Given the description of an element on the screen output the (x, y) to click on. 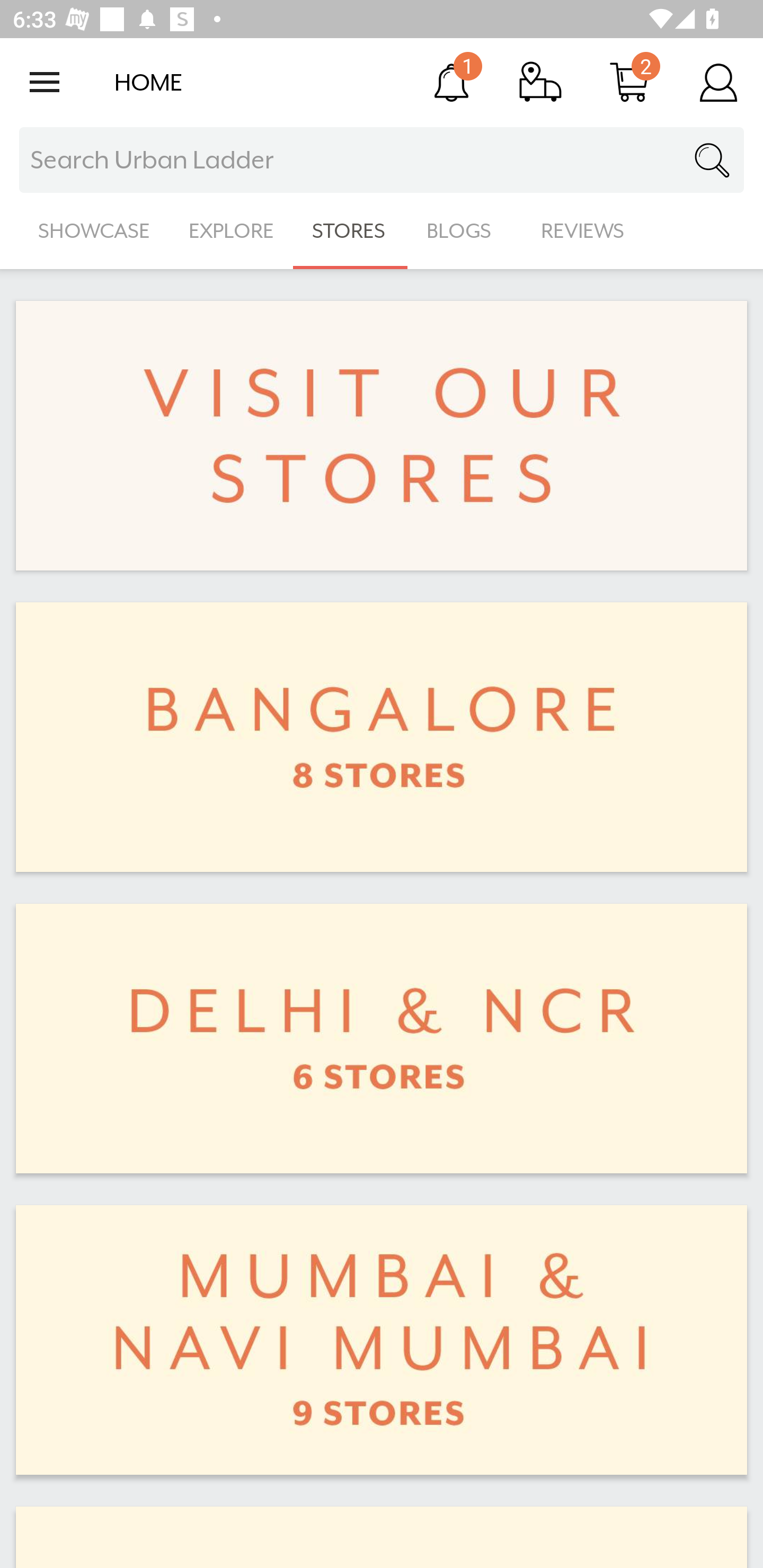
Open navigation drawer (44, 82)
Notification (450, 81)
Track Order (540, 81)
Cart (629, 81)
Account Details (718, 81)
Search Urban Ladder  (381, 159)
SHOWCASE (94, 230)
EXPLORE (230, 230)
STORES (349, 230)
BLOGS (464, 230)
REVIEWS (582, 230)
